Given the description of an element on the screen output the (x, y) to click on. 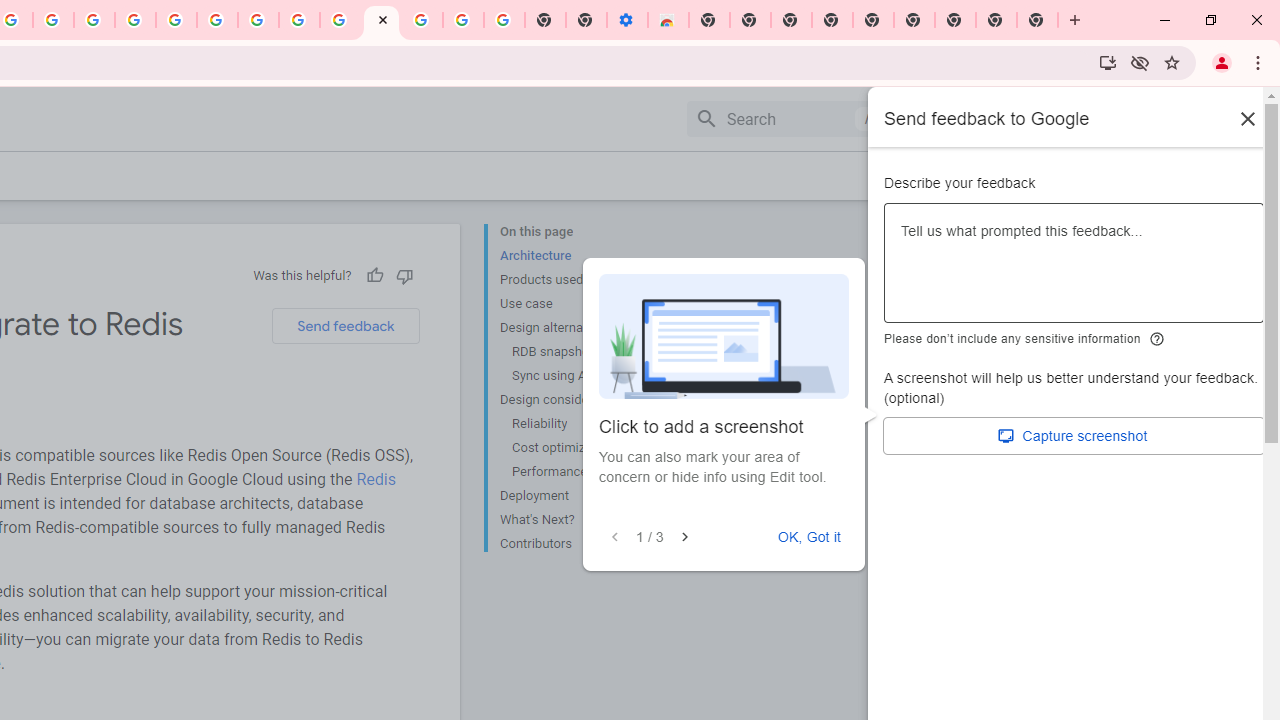
Contact Us (1050, 175)
Third-party cookies blocked (1139, 62)
Previous (614, 537)
Cost optimization (585, 448)
Ad Settings (135, 20)
RDB snapshots (585, 351)
Browse the Google Chrome Community - Google Chrome Community (340, 20)
Performance (585, 471)
Design considerations (580, 399)
New Tab (708, 20)
